Given the description of an element on the screen output the (x, y) to click on. 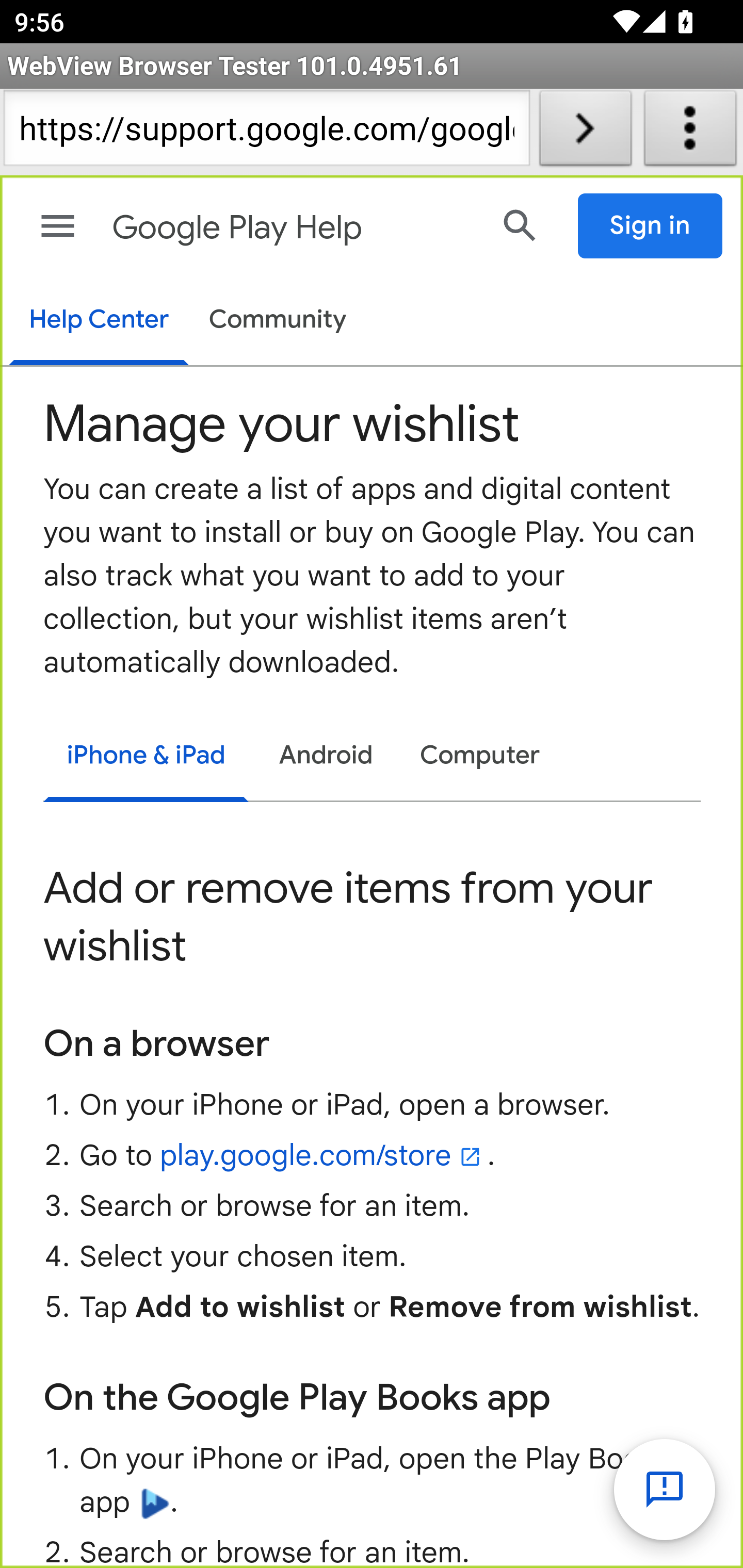
Load URL (585, 132)
About WebView (690, 132)
Main menu (58, 226)
Google Play Help (292, 227)
Search Help Center (519, 225)
Sign in (650, 226)
Help Center (98, 320)
Community (277, 320)
iPhone & iPad (145, 757)
Android (325, 756)
Computer (479, 756)
play.google.com/store (323, 1155)
